Given the description of an element on the screen output the (x, y) to click on. 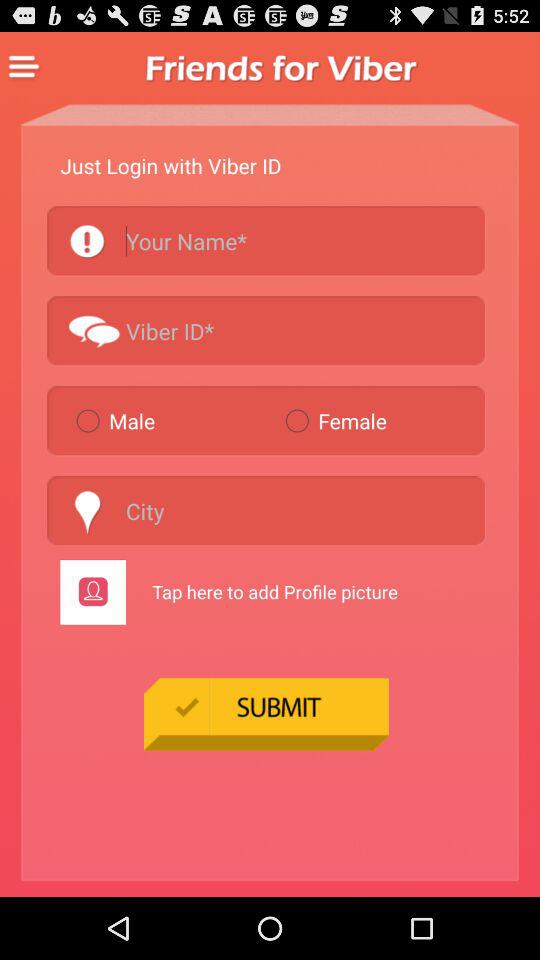
tap the radio button on the right (380, 420)
